Given the description of an element on the screen output the (x, y) to click on. 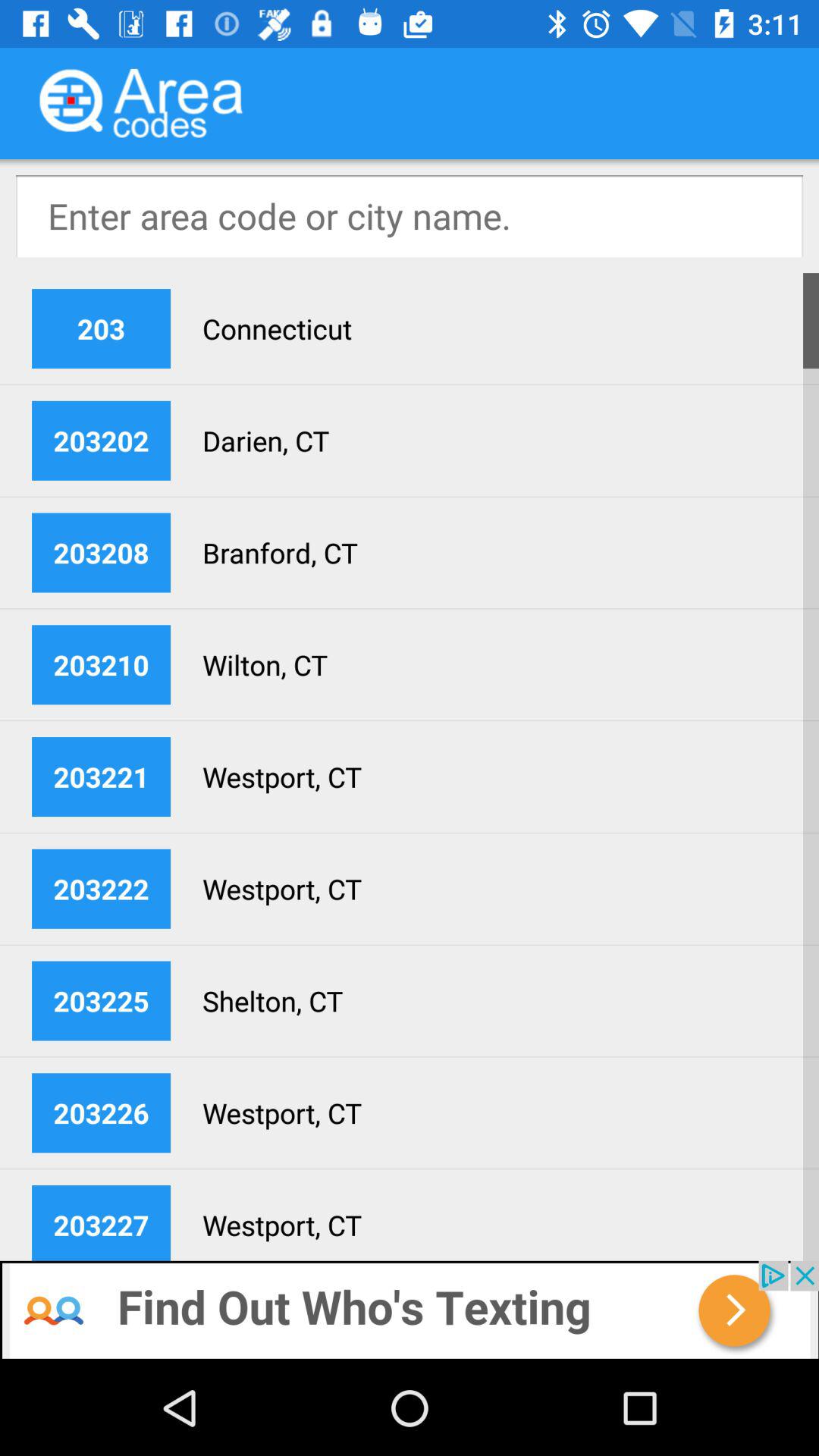
back farce (409, 1310)
